Given the description of an element on the screen output the (x, y) to click on. 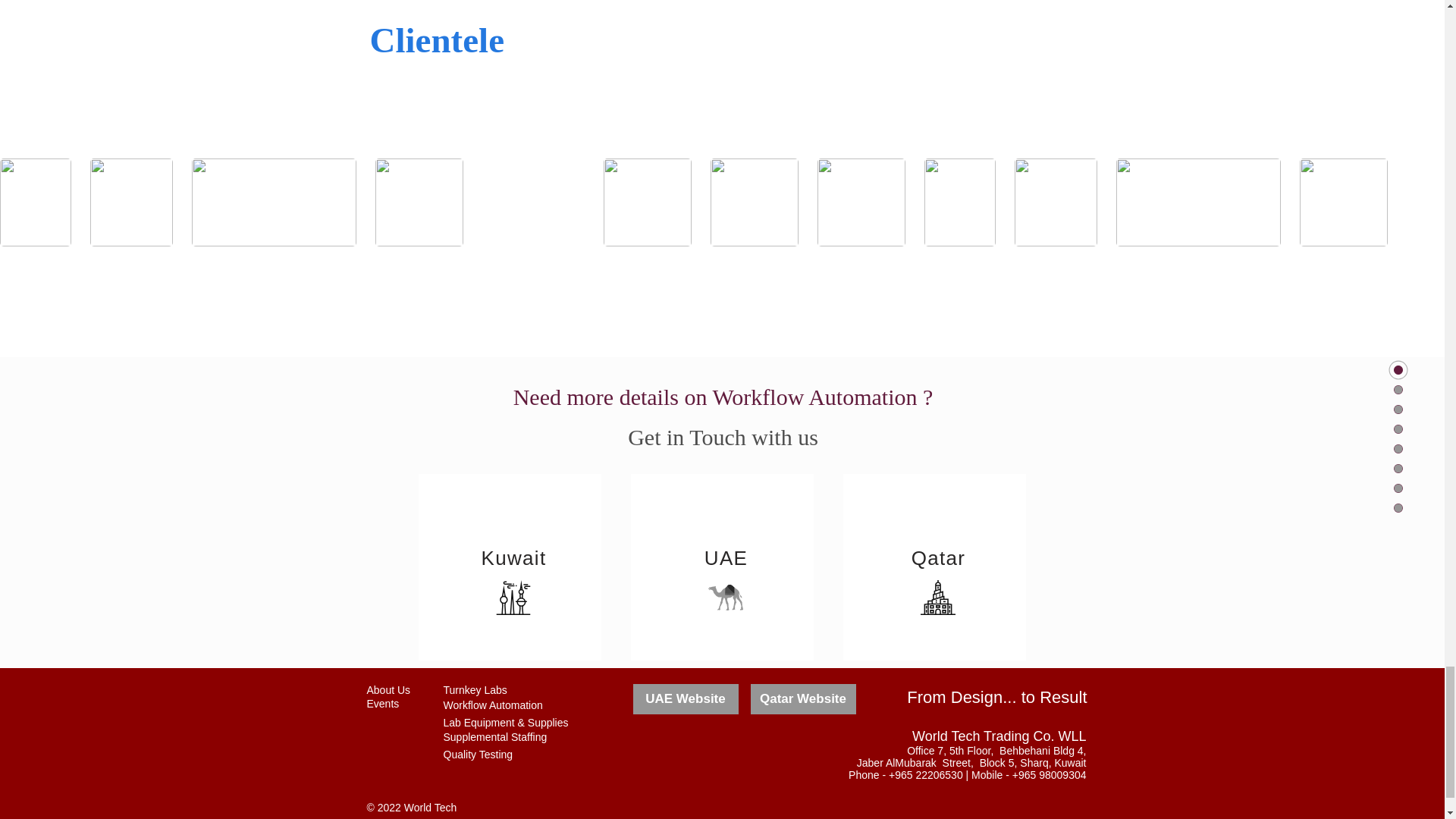
Events (382, 703)
Quality Testing (477, 754)
Workflow Automation (491, 705)
UAE Website (684, 698)
Supplemental Staffing (494, 736)
Turnkey Labs (474, 689)
Qatar Website (803, 698)
About Us (388, 689)
